Given the description of an element on the screen output the (x, y) to click on. 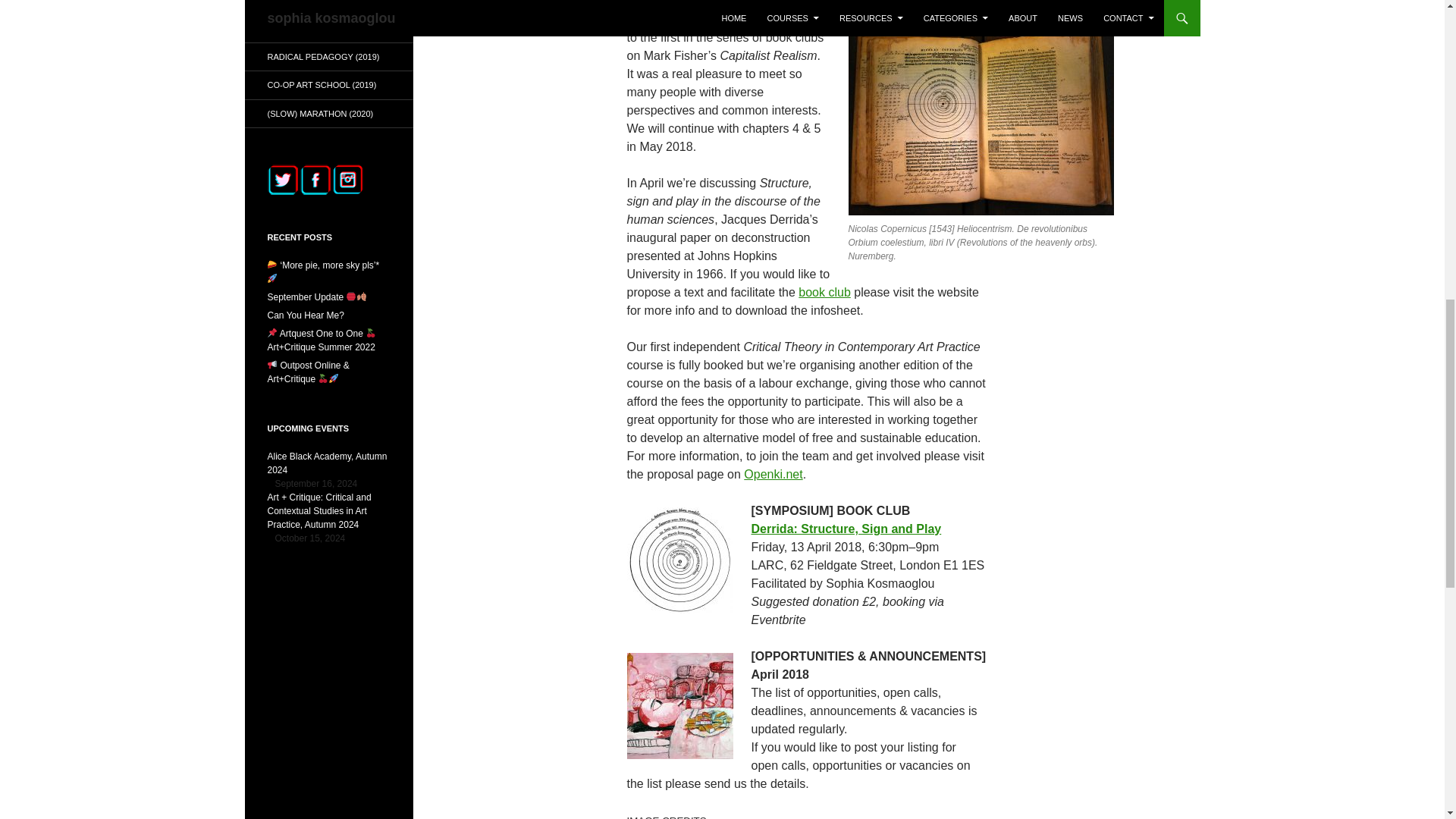
Alice Black Academy, Autumn 2024 (326, 463)
